Given the description of an element on the screen output the (x, y) to click on. 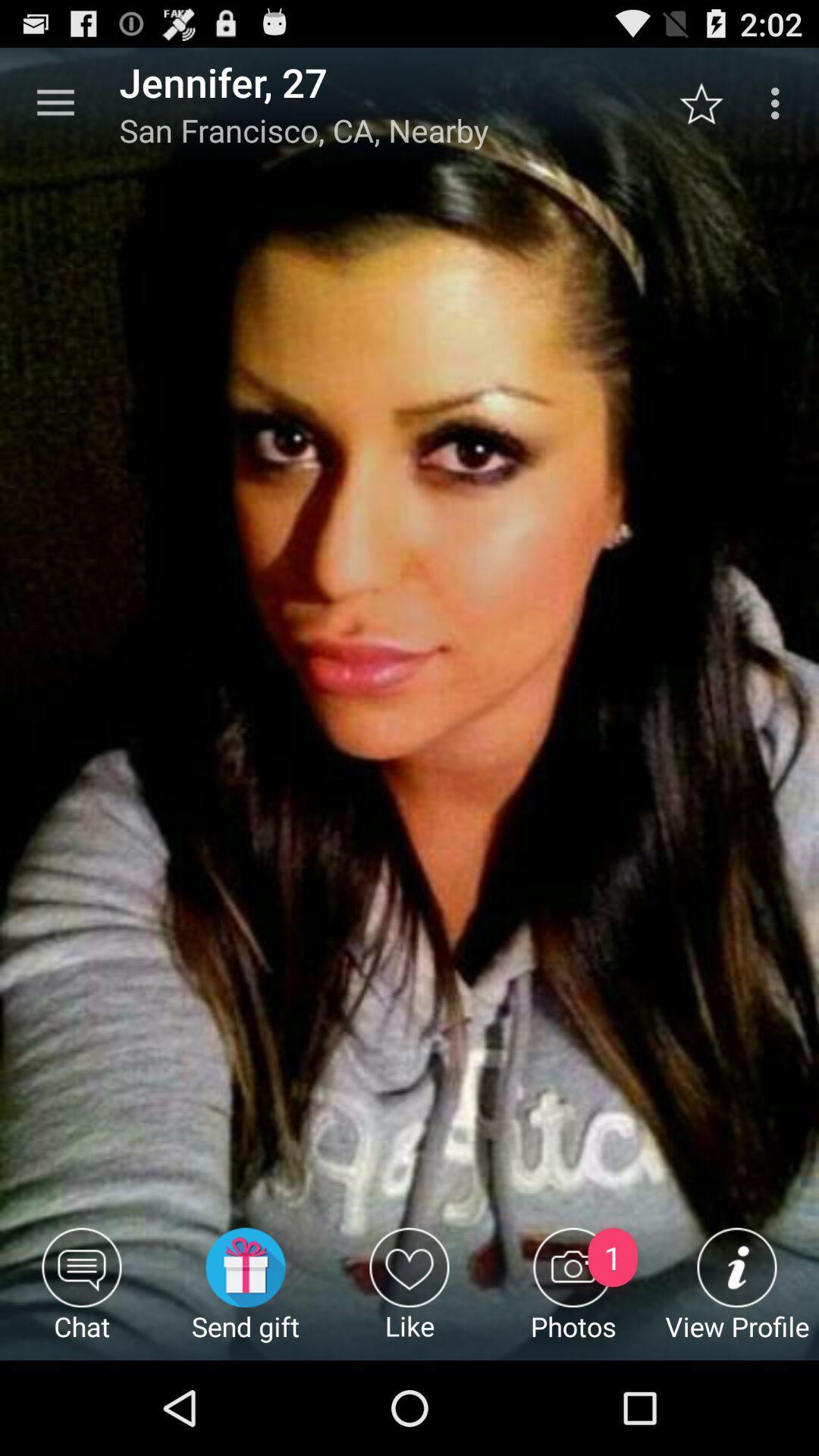
turn off icon above the chat (55, 103)
